Given the description of an element on the screen output the (x, y) to click on. 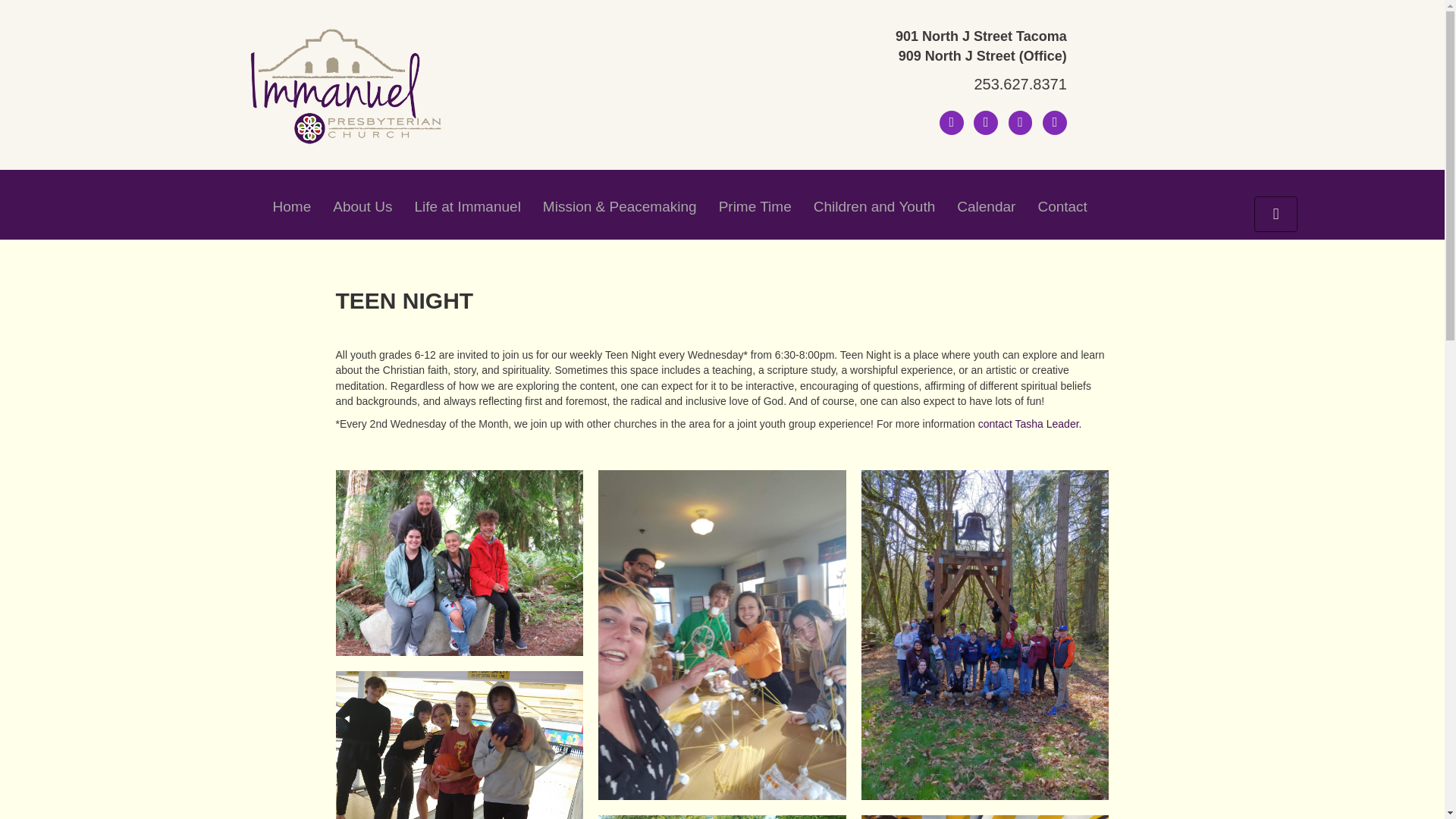
8 (458, 744)
Immanual-Pres-LOGO-Color-LARGE-transparent-500x298 (344, 86)
Calendar (986, 206)
About Us (362, 206)
12 (985, 816)
10 (721, 816)
Life at Immanuel (467, 206)
Prime Time (754, 206)
Children and Youth (874, 206)
Home (291, 206)
Contact (1061, 206)
contact Tasha Leader. (1029, 423)
